Given the description of an element on the screen output the (x, y) to click on. 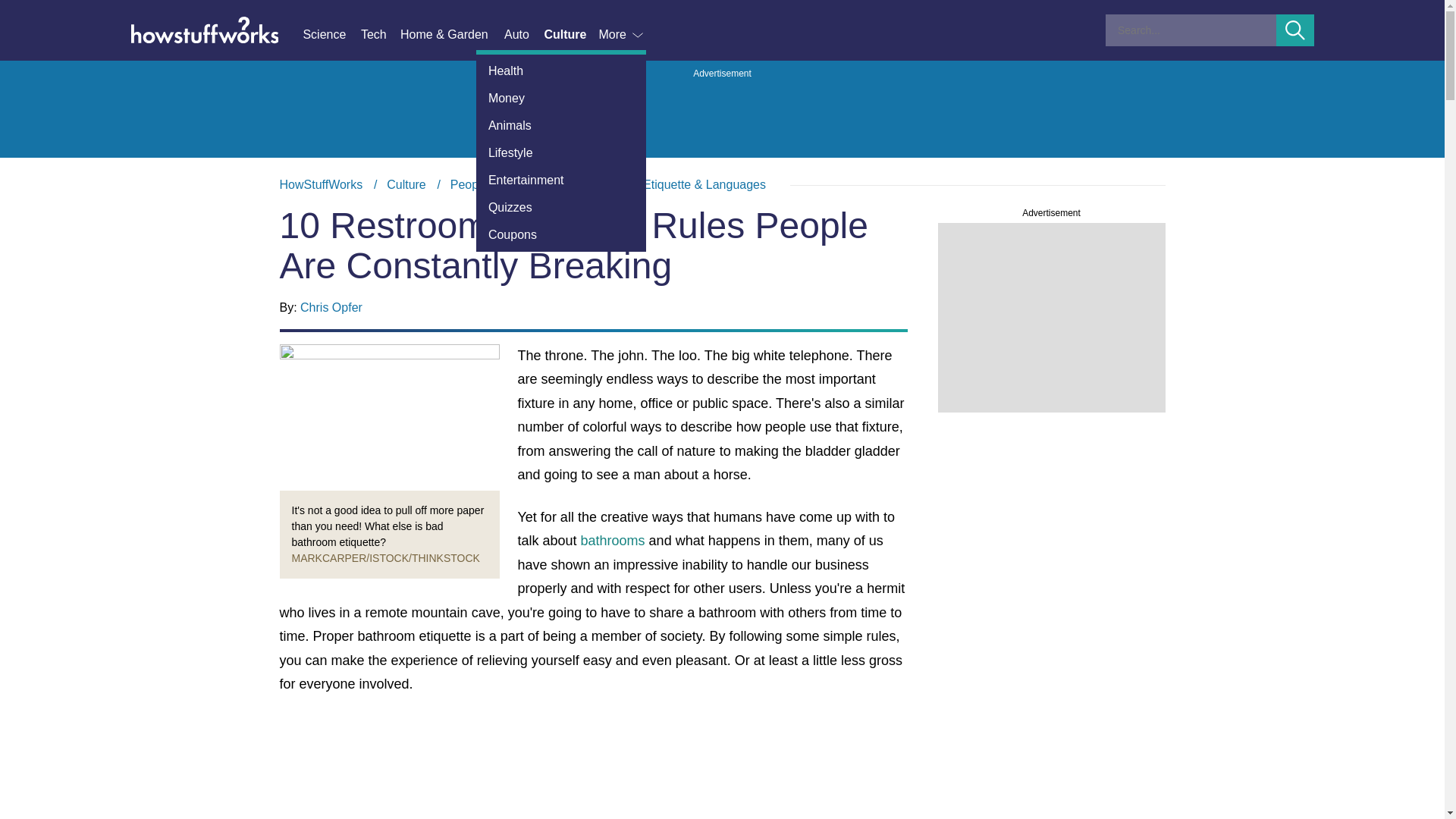
Coupons (561, 234)
Lifestyle (561, 153)
Vimeo Video Embed (593, 766)
HowStuffWorks (320, 184)
Animals (561, 125)
Auto (523, 34)
More (621, 34)
Tech (380, 34)
Submit Search (1295, 29)
Quizzes (561, 207)
Culture (570, 34)
Culture (406, 184)
Entertainment (561, 180)
Health (561, 71)
People (468, 184)
